Given the description of an element on the screen output the (x, y) to click on. 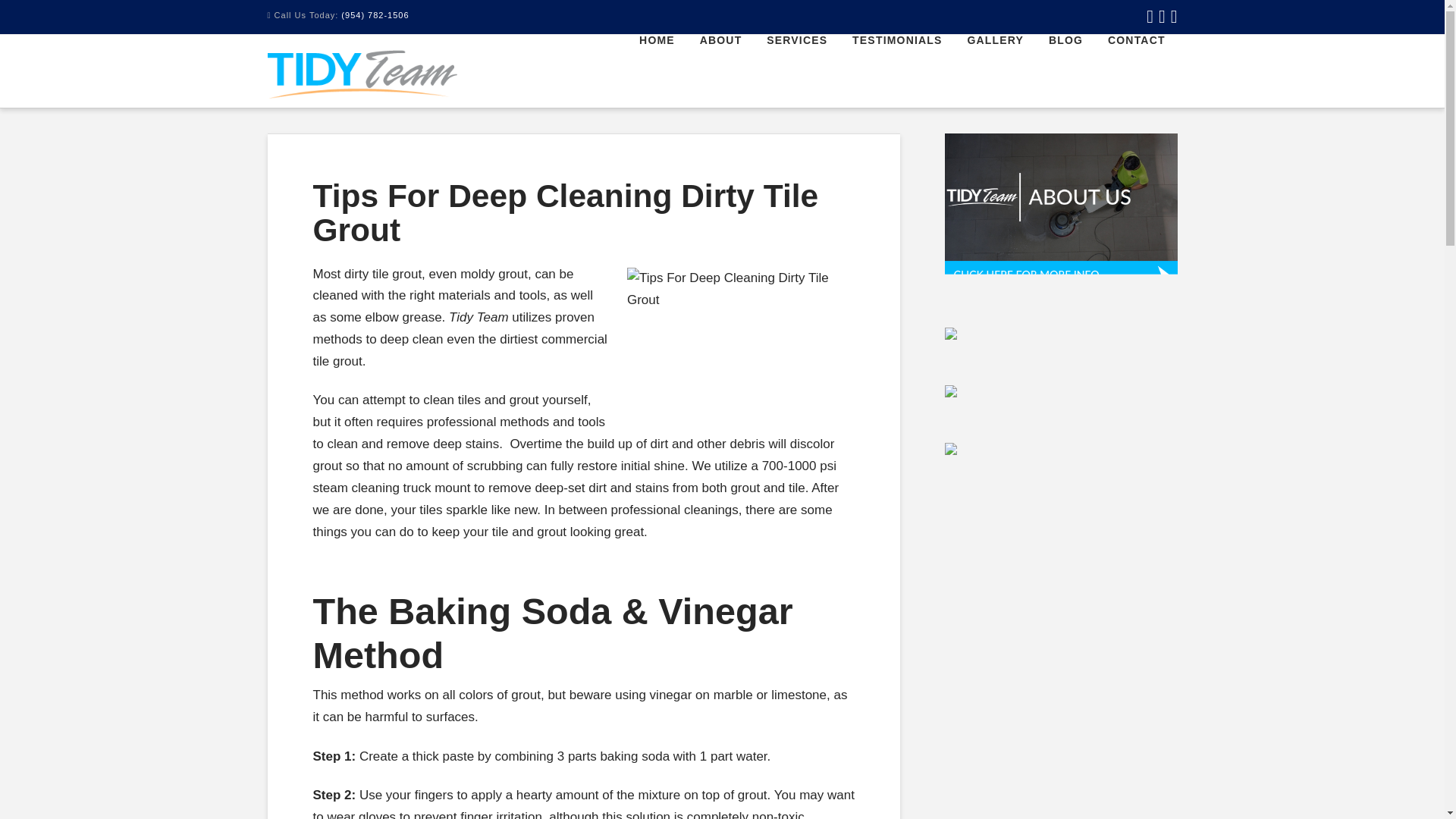
ABOUT (720, 69)
GALLERY (994, 69)
CONTACT (1135, 69)
SERVICES (797, 69)
TESTIMONIALS (896, 69)
